Given the description of an element on the screen output the (x, y) to click on. 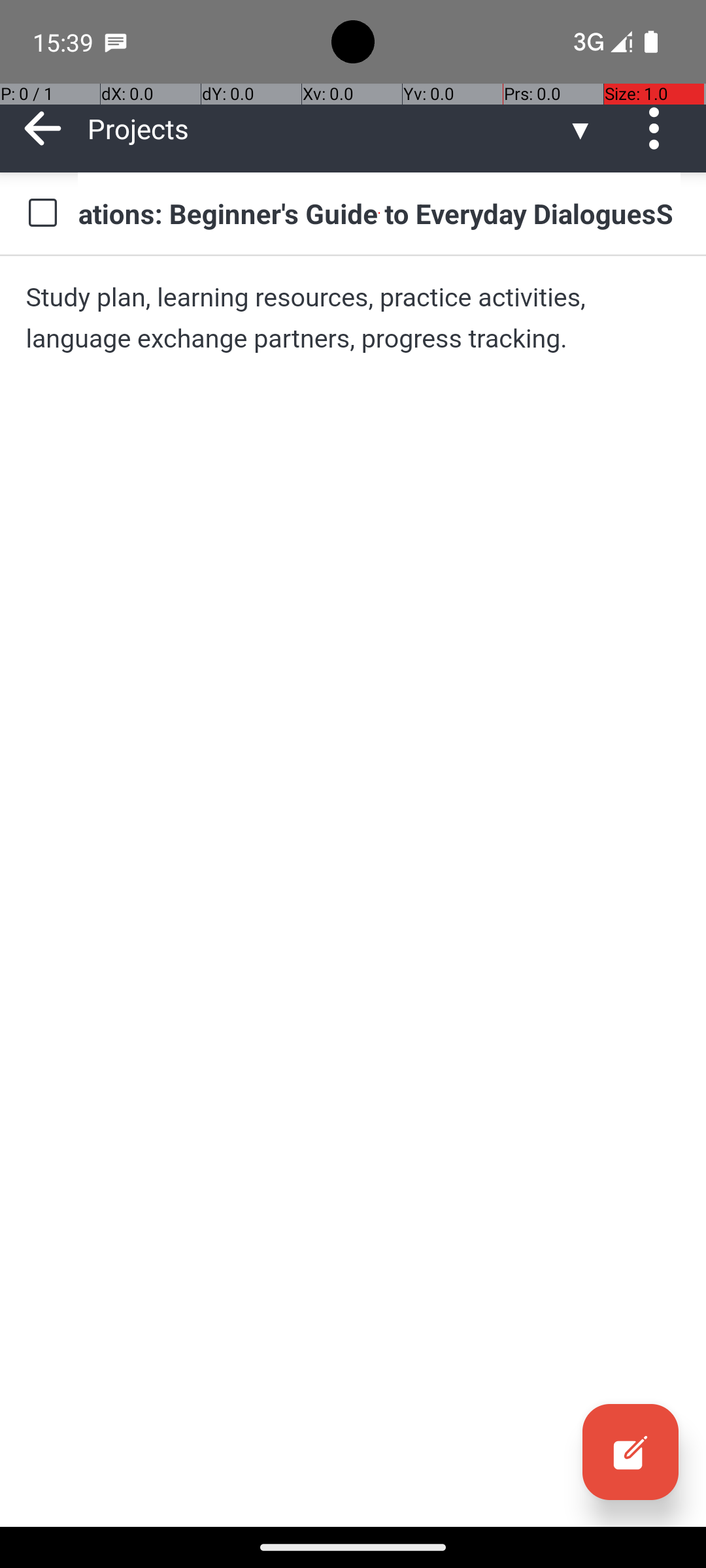
Language Learning Project - Conversational Spanish Conversations: Beginner's Guide to Everyday DialoguesSpanish for BeginnersConversational Spanish Element type: android.widget.EditText (378, 213)
Projects Element type: android.widget.TextView (326, 128)
Study plan, learning resources, practice activities, language exchange partners, progress tracking. Element type: android.widget.TextView (352, 317)
15:39 Element type: android.widget.TextView (64, 41)
